Given the description of an element on the screen output the (x, y) to click on. 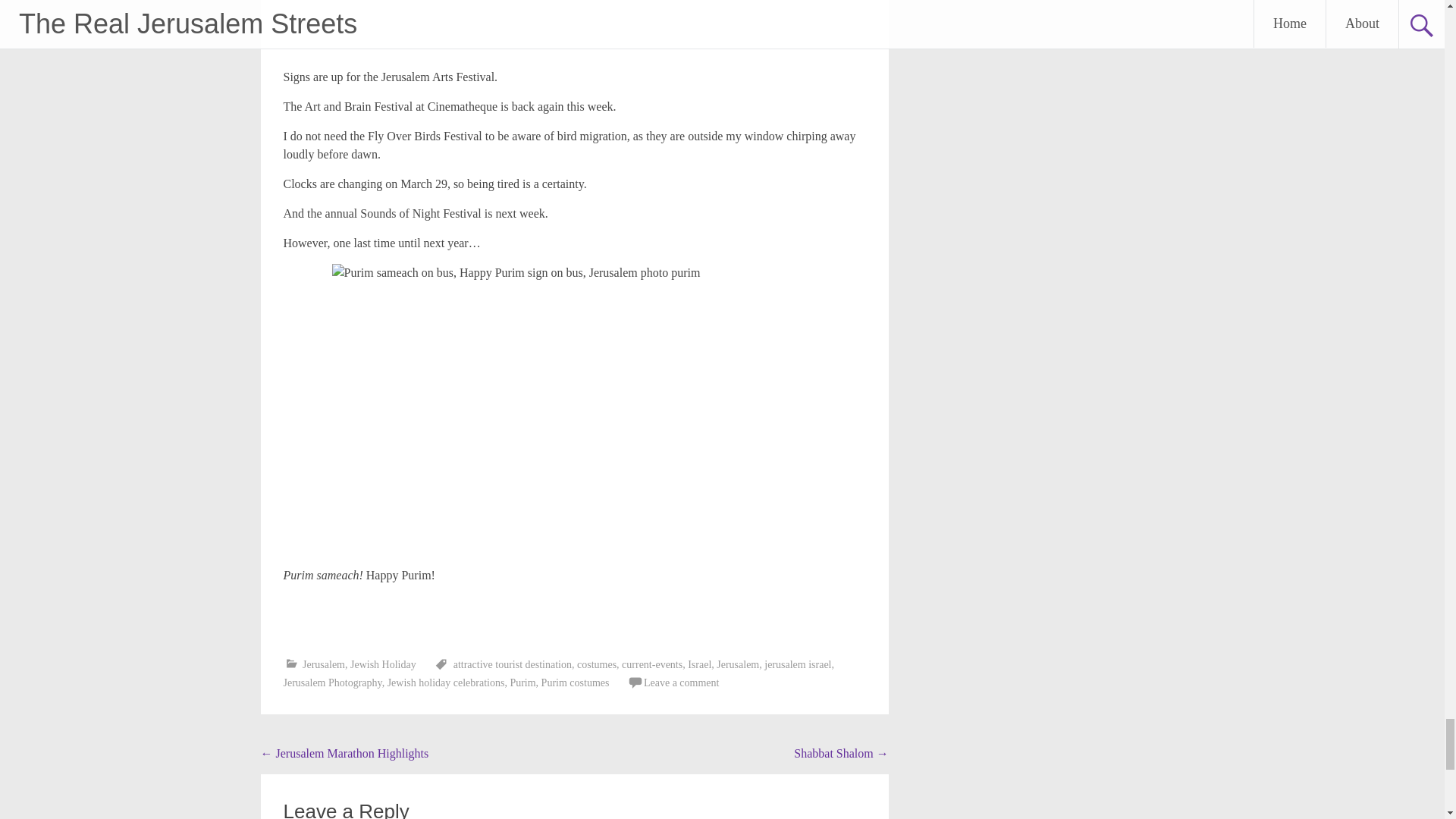
Jewish holiday celebrations (446, 682)
attractive tourist destination (512, 664)
Jewish Holiday (383, 664)
Purim (522, 682)
costumes (595, 664)
Israel (699, 664)
Leave a comment (681, 682)
Jerusalem (323, 664)
current-events (651, 664)
jerusalem israel (797, 664)
Purim costumes (575, 682)
Jerusalem (737, 664)
Jerusalem Photography (332, 682)
